Given the description of an element on the screen output the (x, y) to click on. 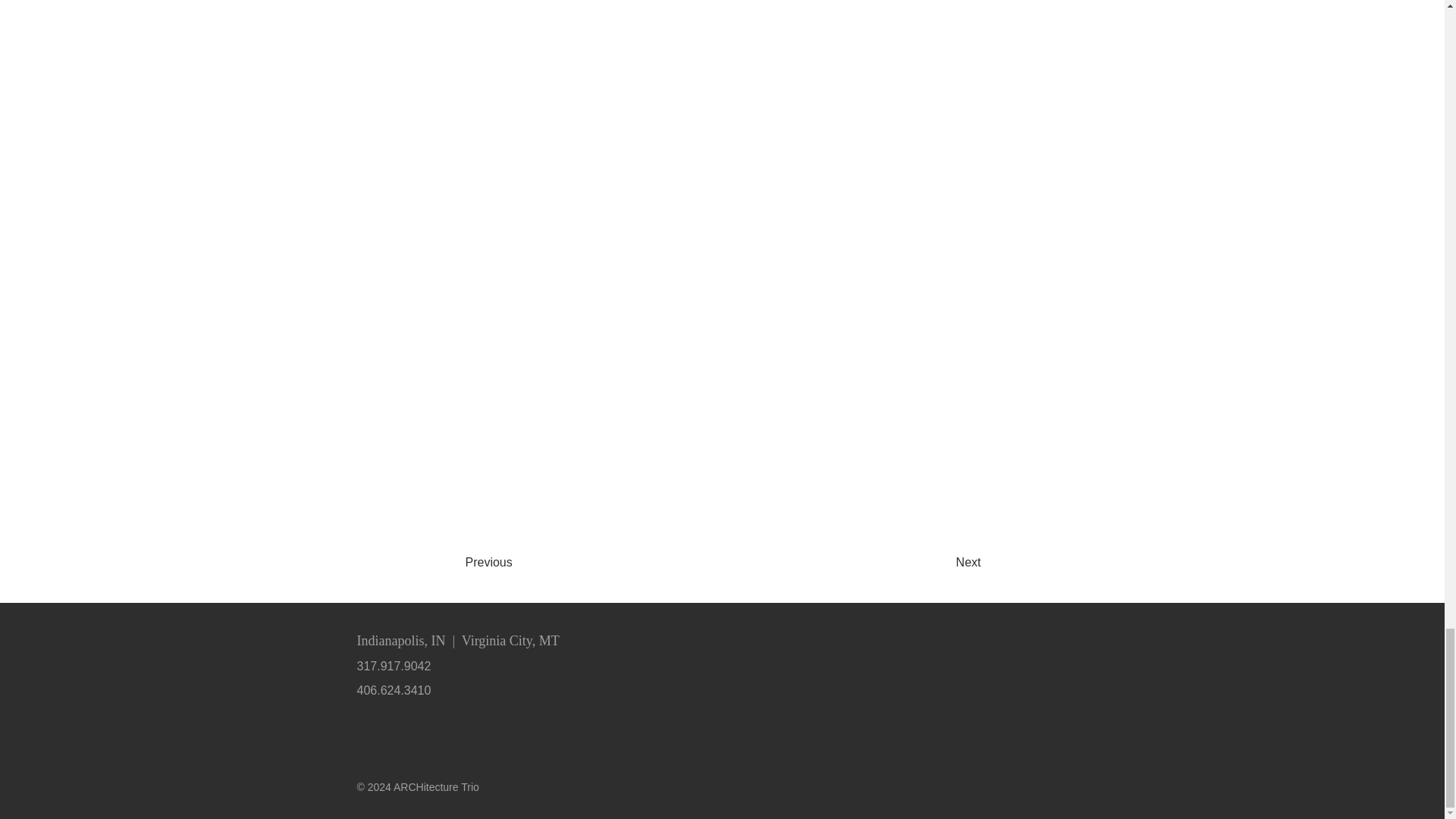
Previous (526, 562)
Next (928, 562)
